Given the description of an element on the screen output the (x, y) to click on. 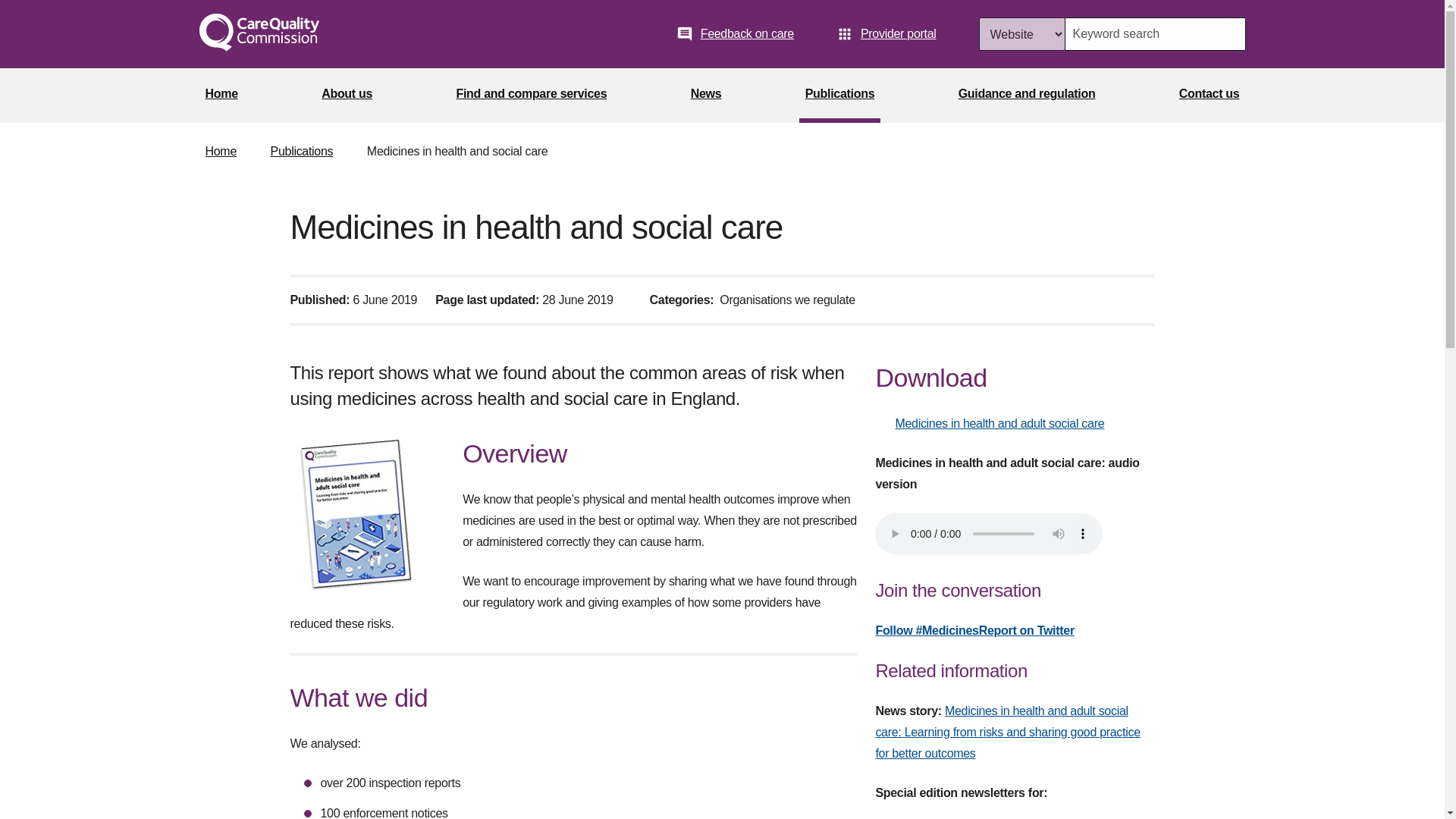
The Care Quality Commission (258, 34)
Find and compare services (530, 94)
Publications (839, 94)
Medicines report cover, June 2019 (376, 519)
Publications (301, 151)
Contact us (1209, 94)
Provider portal (885, 33)
Medicines in health and adult social care (989, 422)
Home (220, 151)
News (706, 94)
Search (1227, 33)
Guidance and regulation (1027, 94)
Home (220, 94)
Feedback on care (735, 33)
About us (346, 94)
